Given the description of an element on the screen output the (x, y) to click on. 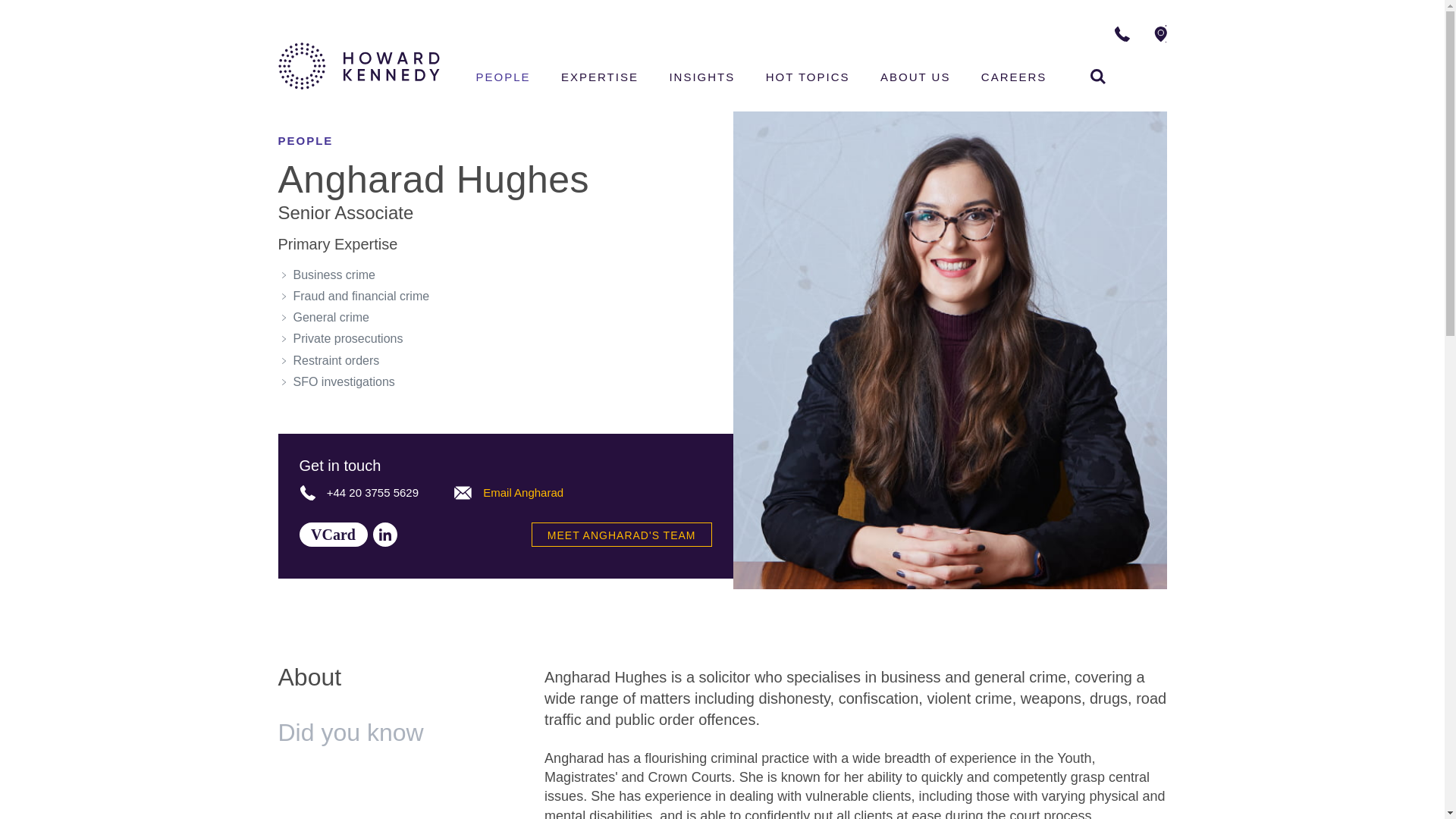
EXPERTISE (599, 79)
PEOPLE (503, 79)
CONTACT US (332, 534)
Email icon (1215, 33)
Search icon (461, 492)
Linkedin icon (1097, 76)
